Given the description of an element on the screen output the (x, y) to click on. 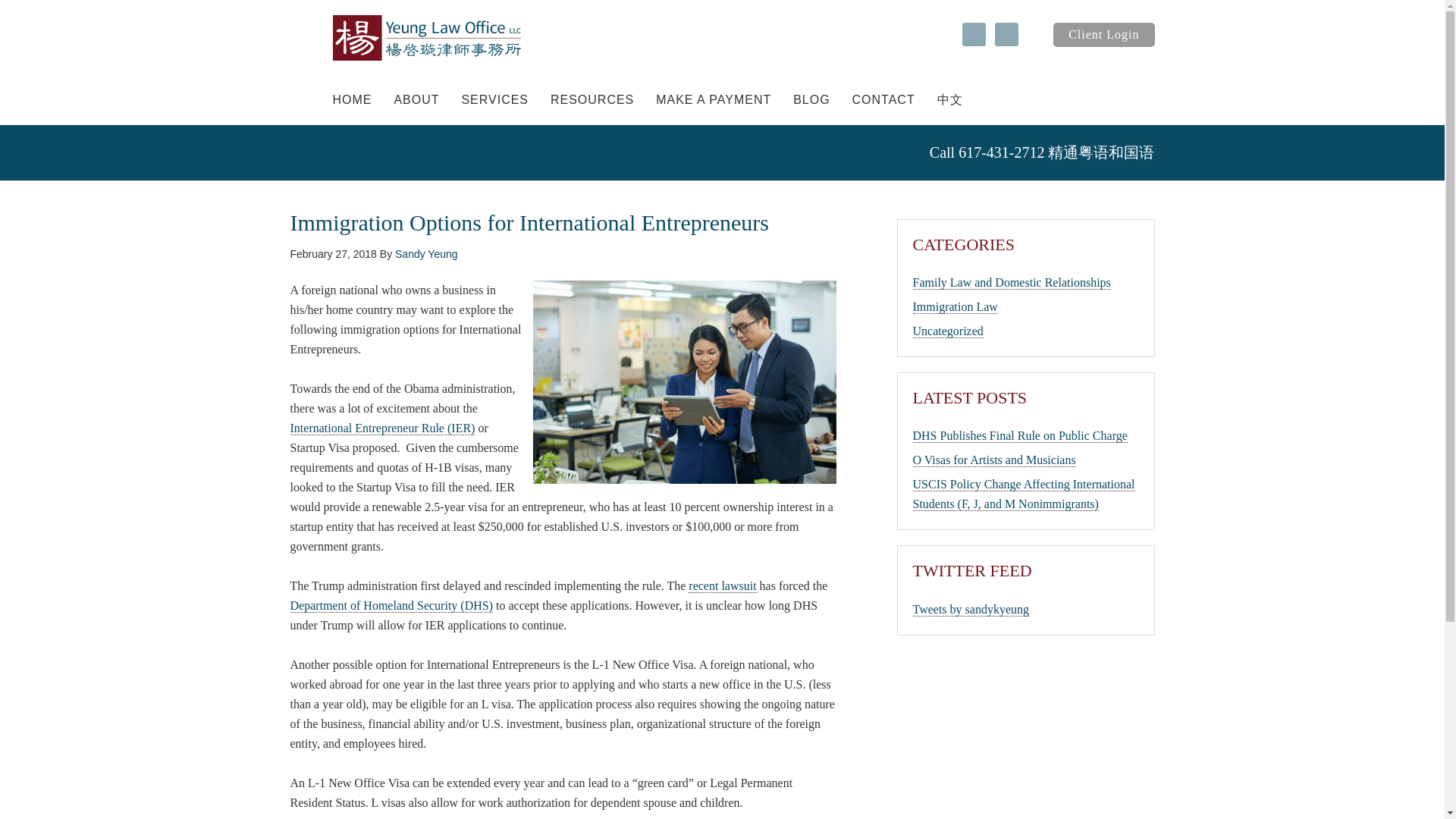
Client Login (1103, 34)
Sandy Yeung (426, 253)
ABOUT (416, 100)
MAKE A PAYMENT (713, 100)
Immigration Law (954, 306)
recent lawsuit (721, 585)
Family Law and Domestic Relationships (1011, 282)
O Visas for Artists and Musicians (993, 459)
RESOURCES (592, 100)
DHS Publishes Final Rule on Public Charge (1019, 436)
